Given the description of an element on the screen output the (x, y) to click on. 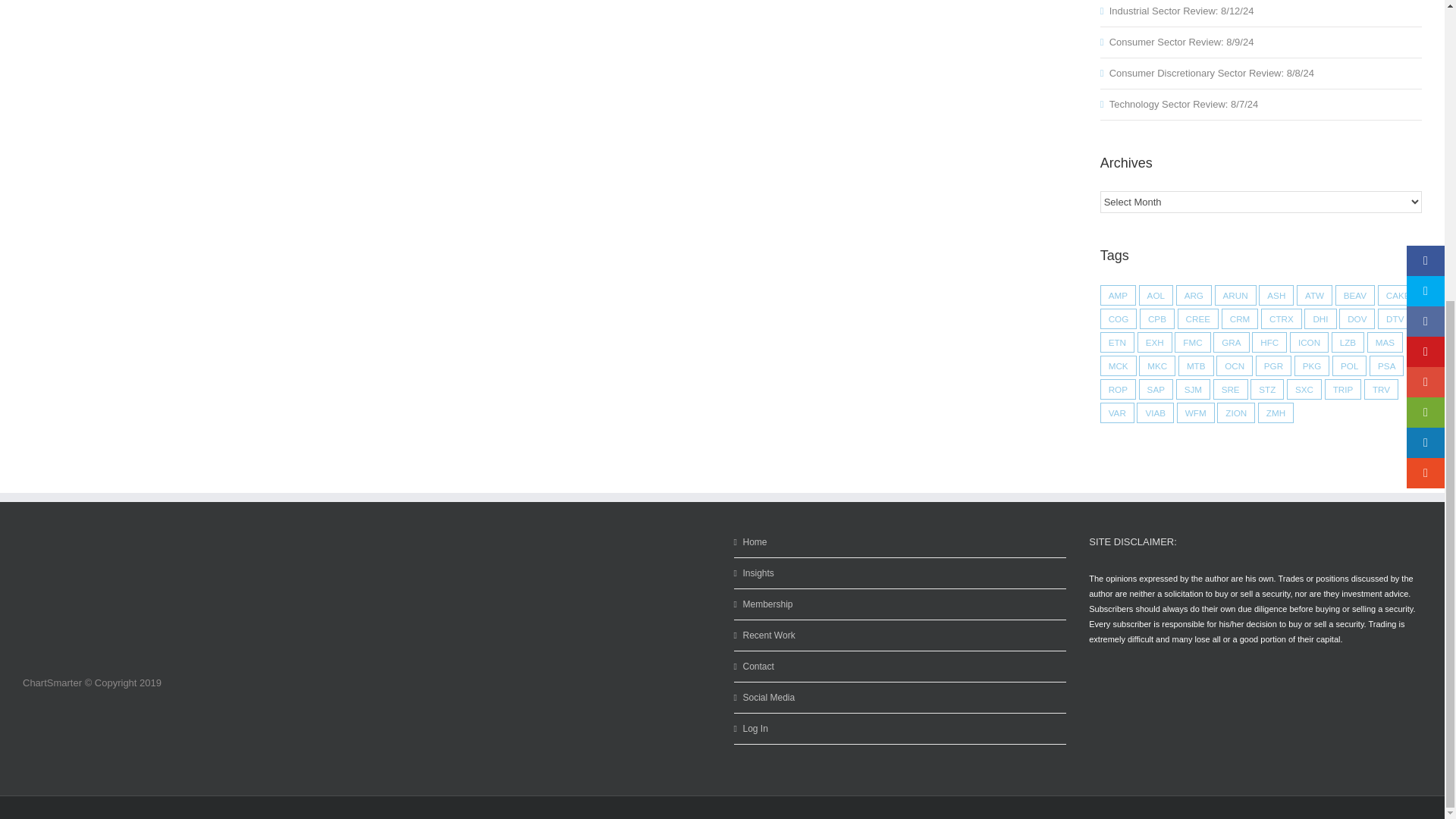
EXH (1154, 342)
DTV (1394, 318)
FMC (1191, 342)
ARG (1193, 295)
ATW (1314, 295)
GRA (1230, 342)
AOL (1155, 295)
CREE (1197, 318)
CRM (1240, 318)
ARUN (1235, 295)
